Given the description of an element on the screen output the (x, y) to click on. 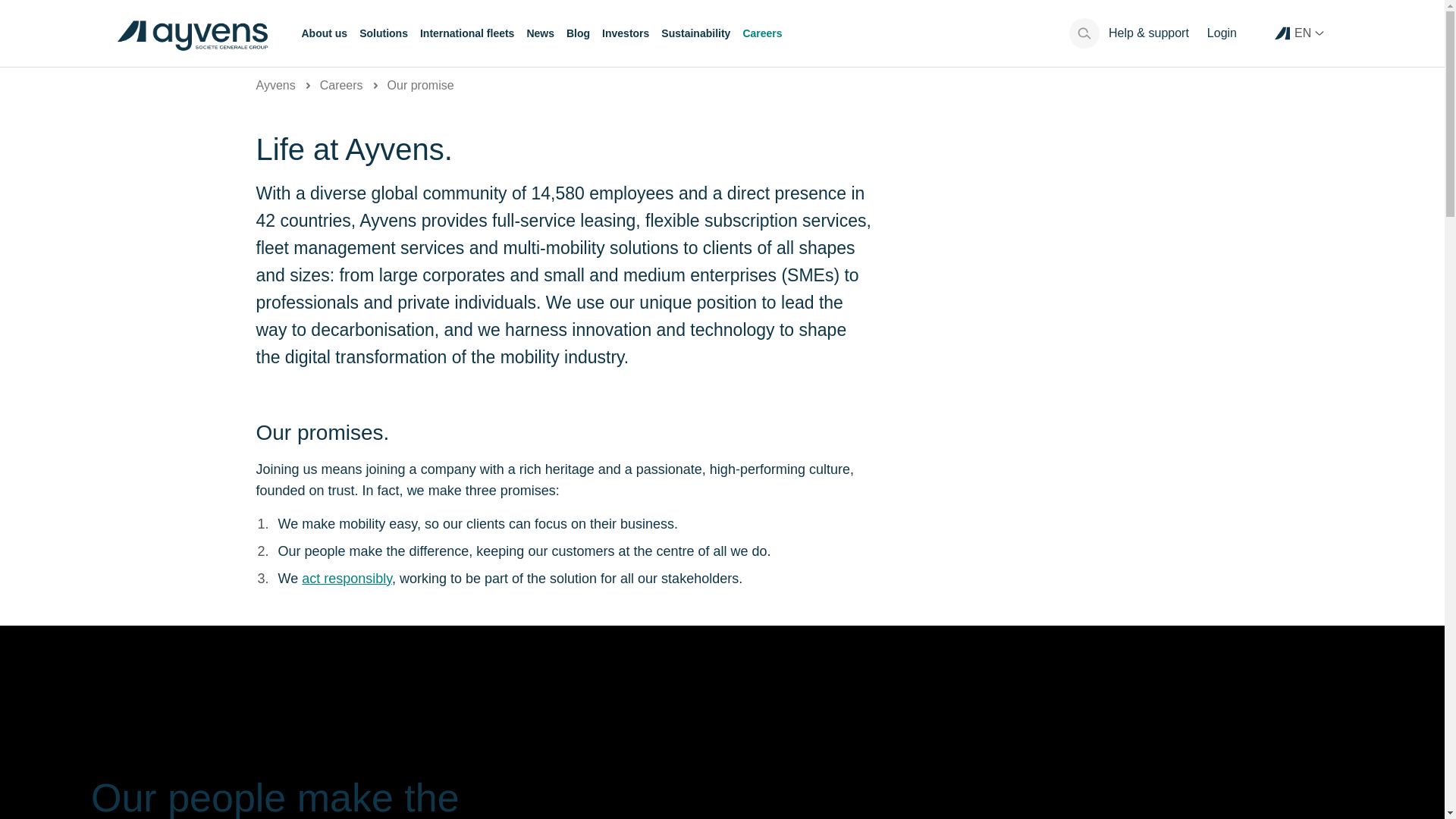
Sustainability (695, 33)
International fleets (466, 33)
Search (1083, 33)
